Given the description of an element on the screen output the (x, y) to click on. 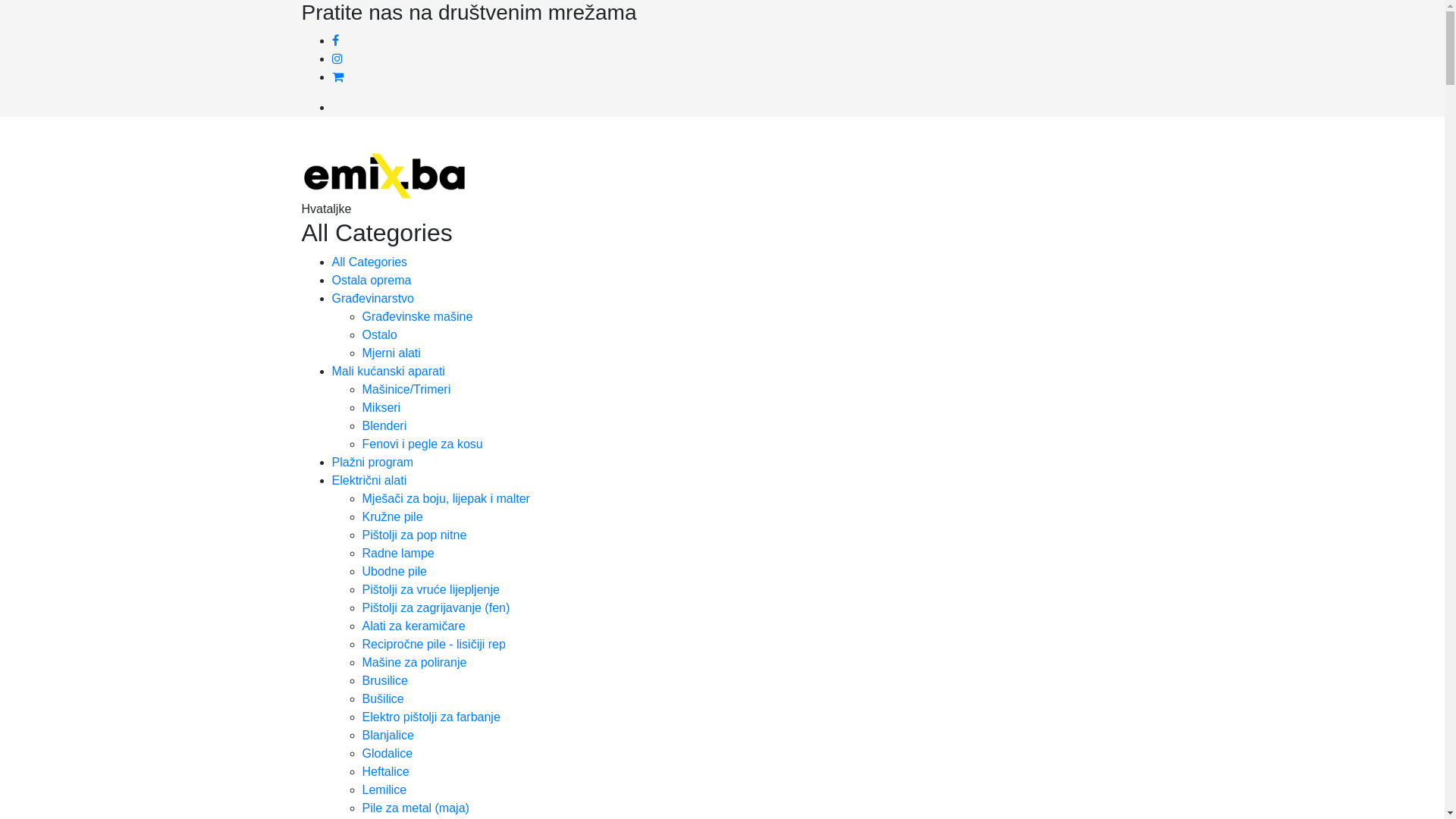
EMIX Element type: hover (384, 174)
Lemilice Element type: text (384, 789)
Pile za metal (maja) Element type: text (415, 807)
Brusilice Element type: text (384, 680)
Glodalice Element type: text (387, 752)
Mikseri Element type: text (381, 407)
Mjerni alati Element type: text (391, 352)
Blanjalice Element type: text (388, 734)
Ostala oprema Element type: text (371, 279)
Ostalo Element type: text (379, 334)
Instagram Element type: hover (337, 58)
Ubodne pile Element type: text (394, 570)
Radne lampe Element type: text (398, 552)
Rss Element type: hover (337, 76)
Heftalice Element type: text (385, 771)
Blenderi Element type: text (384, 425)
All Categories Element type: text (369, 261)
Facebook Element type: hover (335, 40)
Fenovi i pegle za kosu Element type: text (422, 443)
